Given the description of an element on the screen output the (x, y) to click on. 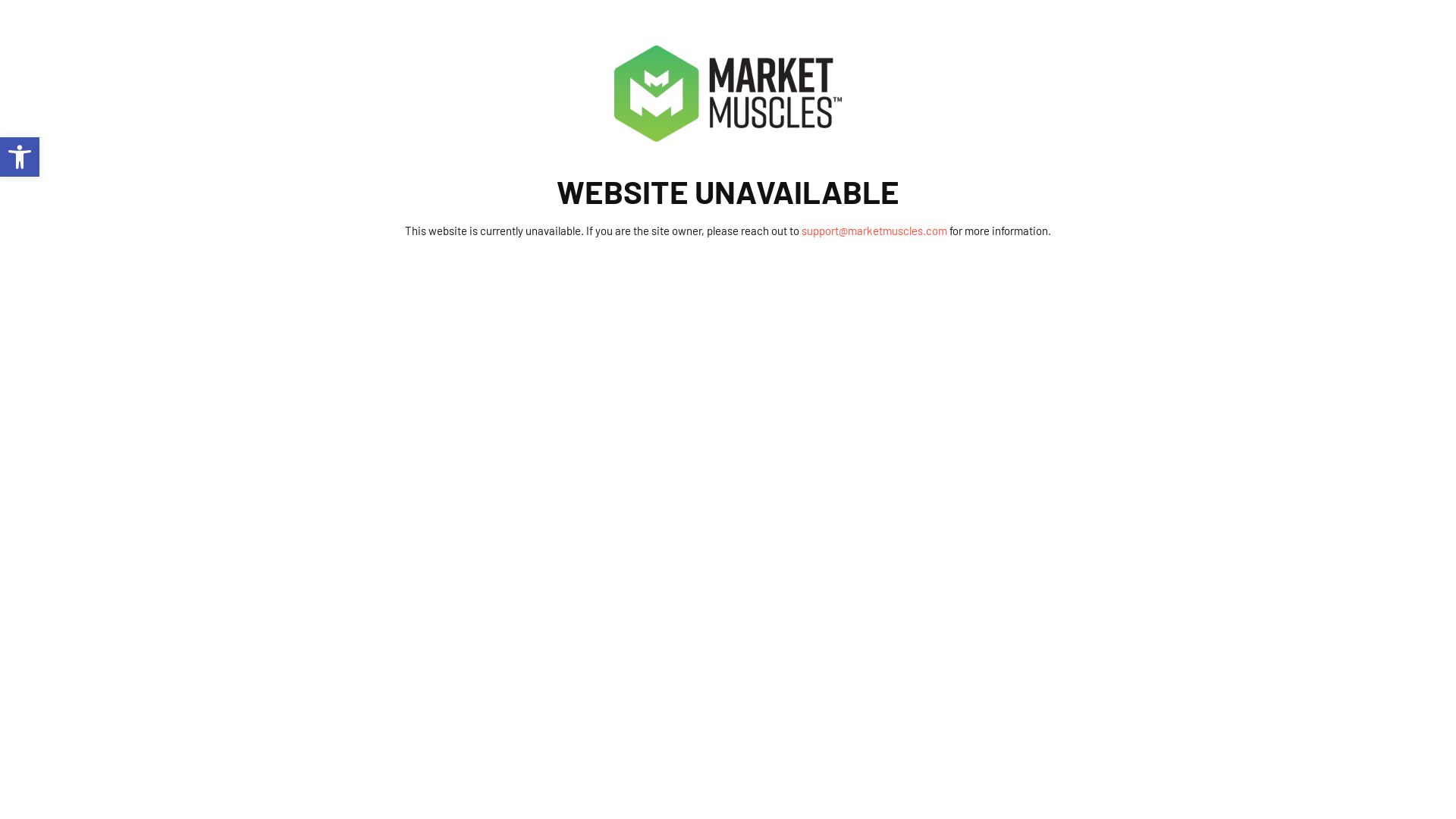
support@marketmuscles.com Element type: text (874, 230)
Open toolbar
Accessibility Tools Element type: text (19, 156)
